Given the description of an element on the screen output the (x, y) to click on. 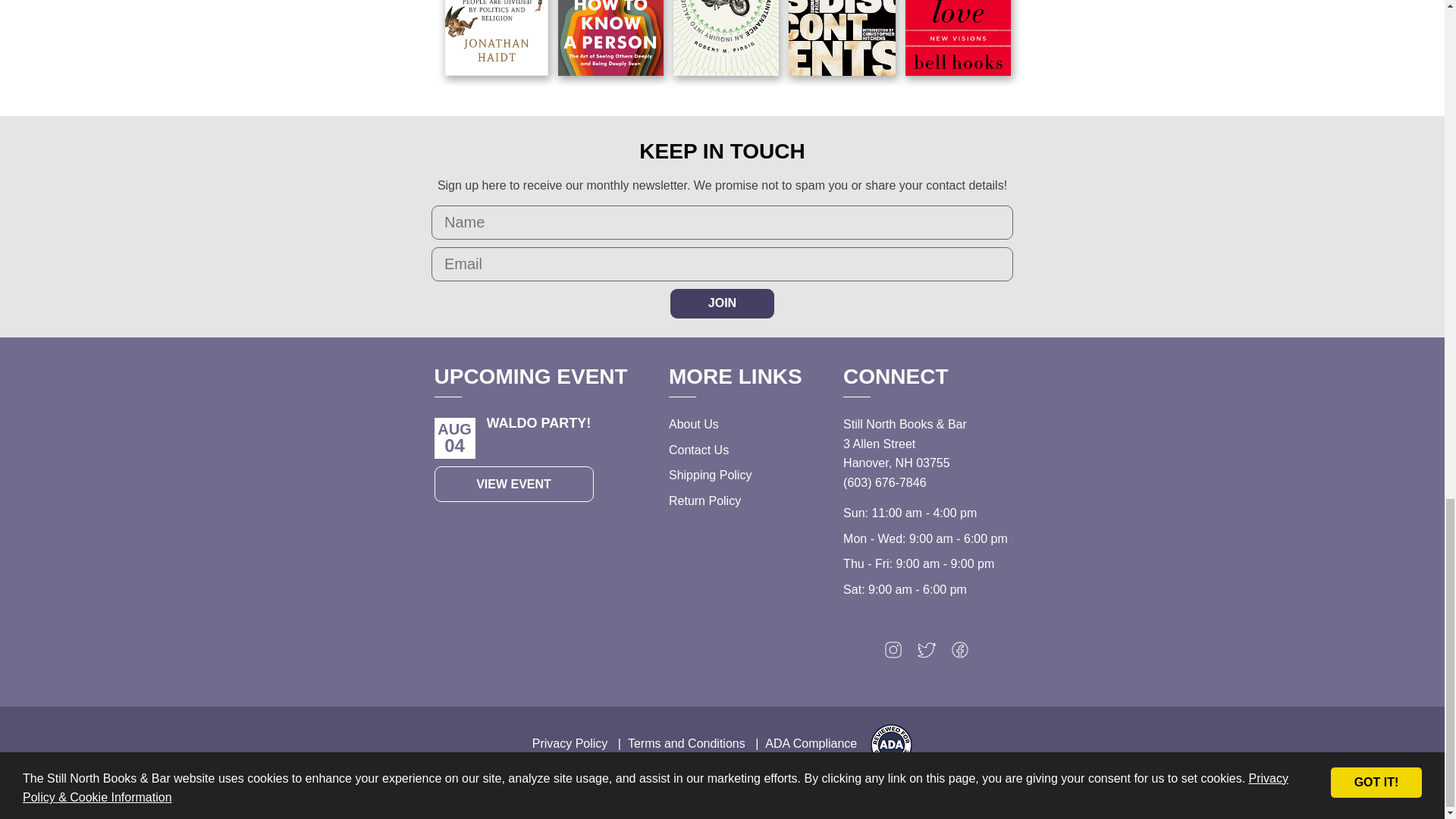
Join (721, 303)
About Us (693, 423)
Connect with Twitter (926, 653)
Connect with Facebook (959, 653)
Connect with Instagram (892, 653)
Join (721, 303)
Contact Us (698, 449)
VIEW EVENT (512, 484)
